Given the description of an element on the screen output the (x, y) to click on. 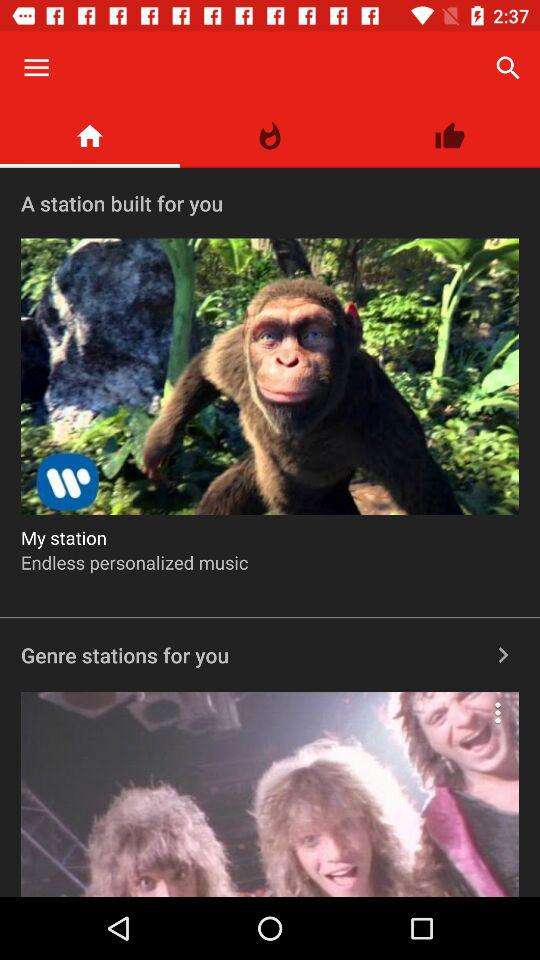
turn on the item above the a station built icon (270, 136)
